Given the description of an element on the screen output the (x, y) to click on. 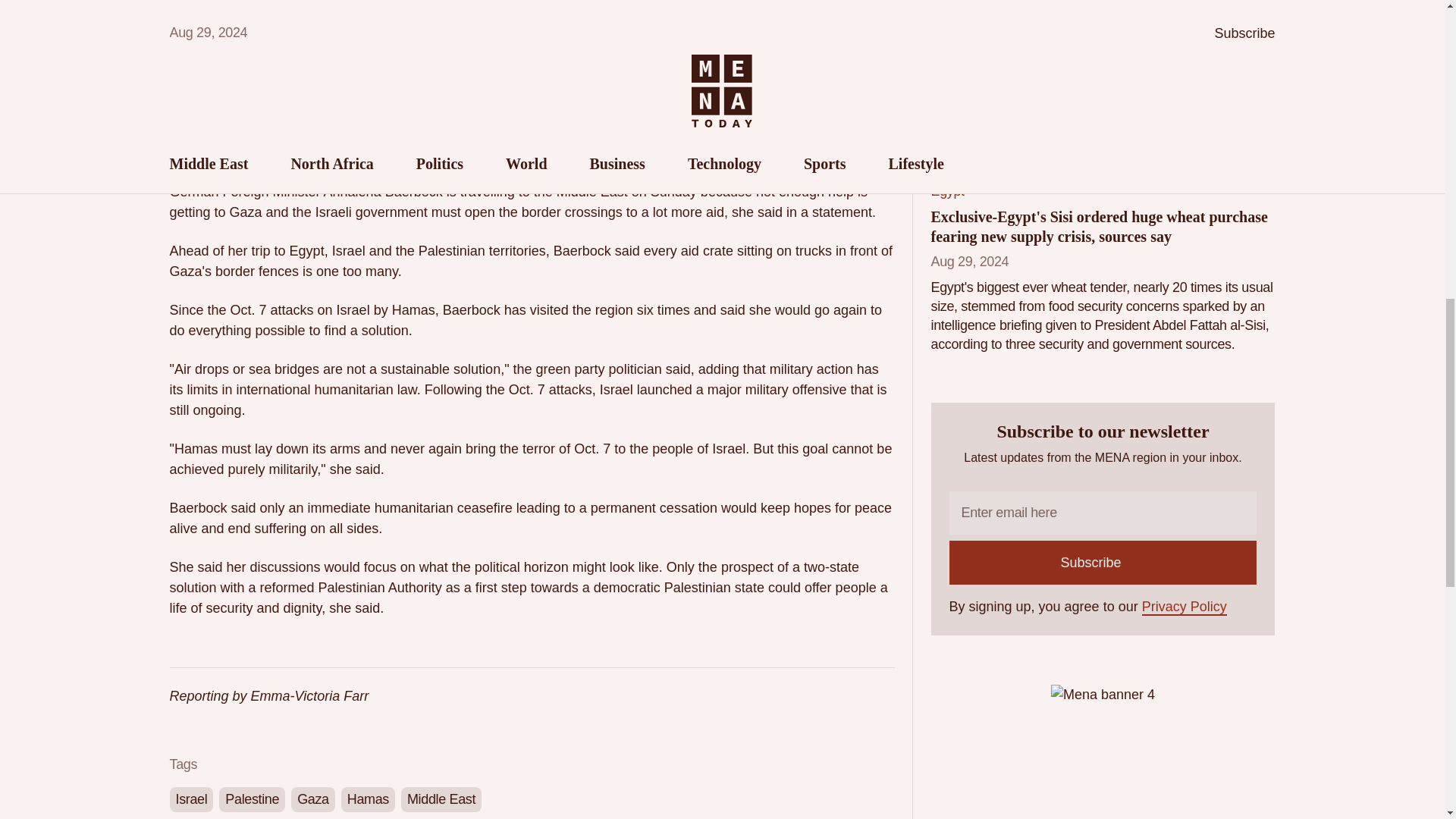
Gaza (312, 799)
Subscribe (1103, 562)
Middle East (441, 799)
Privacy Policy (1184, 606)
Abdullah holds talks with German Chancellor (1080, 9)
Palestine (252, 799)
Hamas (367, 799)
Israel (192, 799)
